Given the description of an element on the screen output the (x, y) to click on. 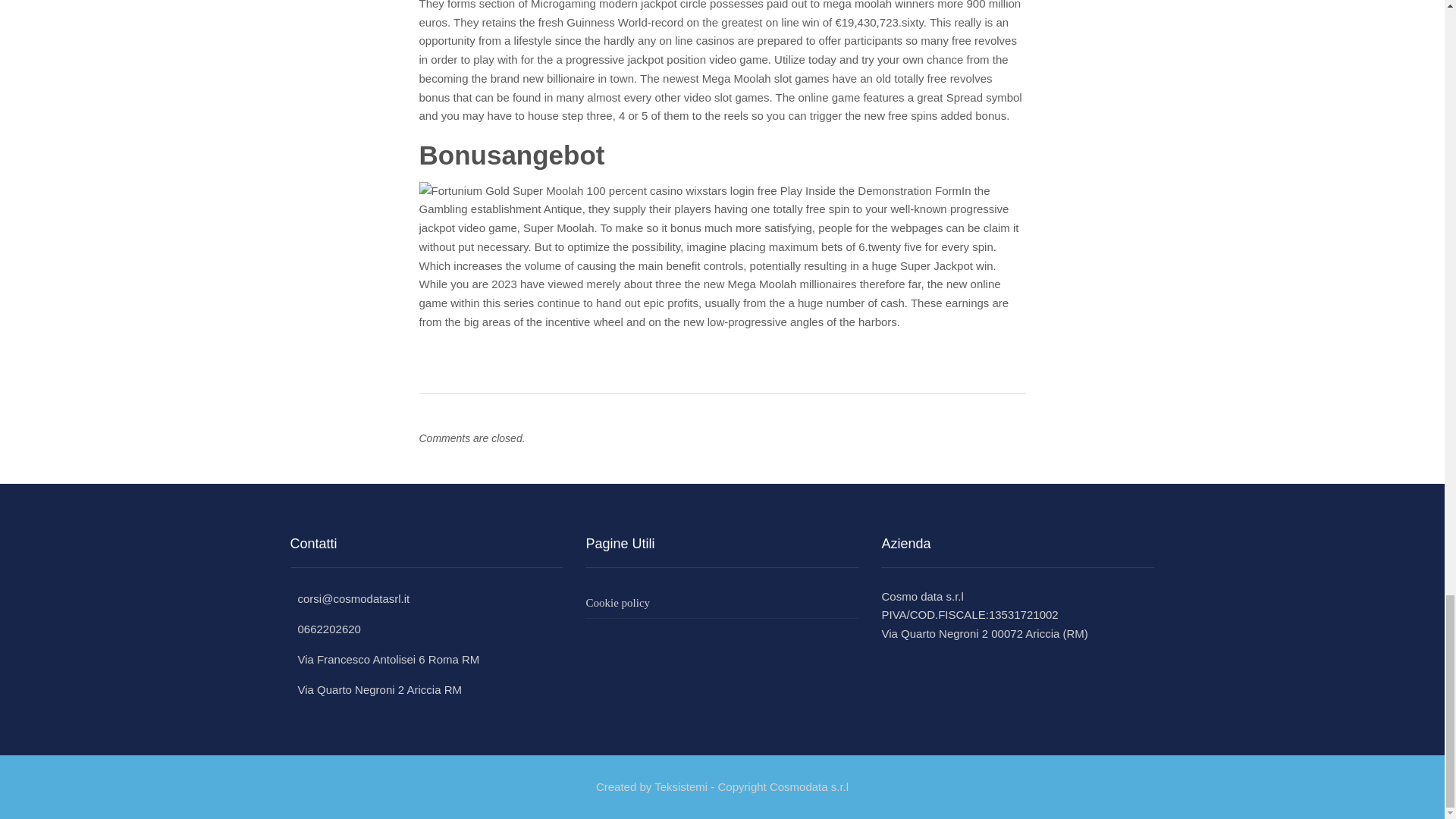
Via Francesco Antolisei 6 Roma RM (384, 658)
